Given the description of an element on the screen output the (x, y) to click on. 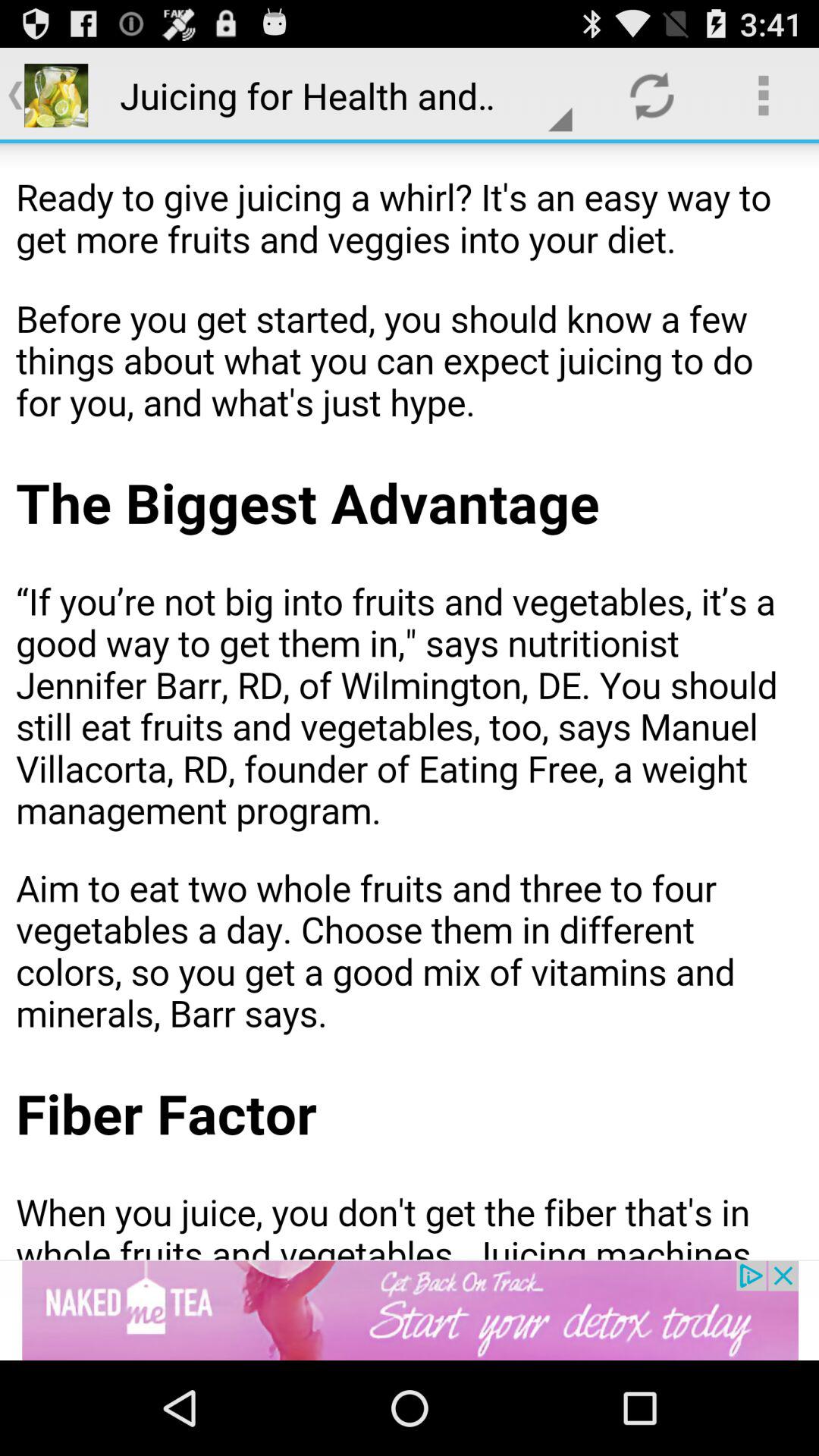
view the advertisement (409, 1310)
